Given the description of an element on the screen output the (x, y) to click on. 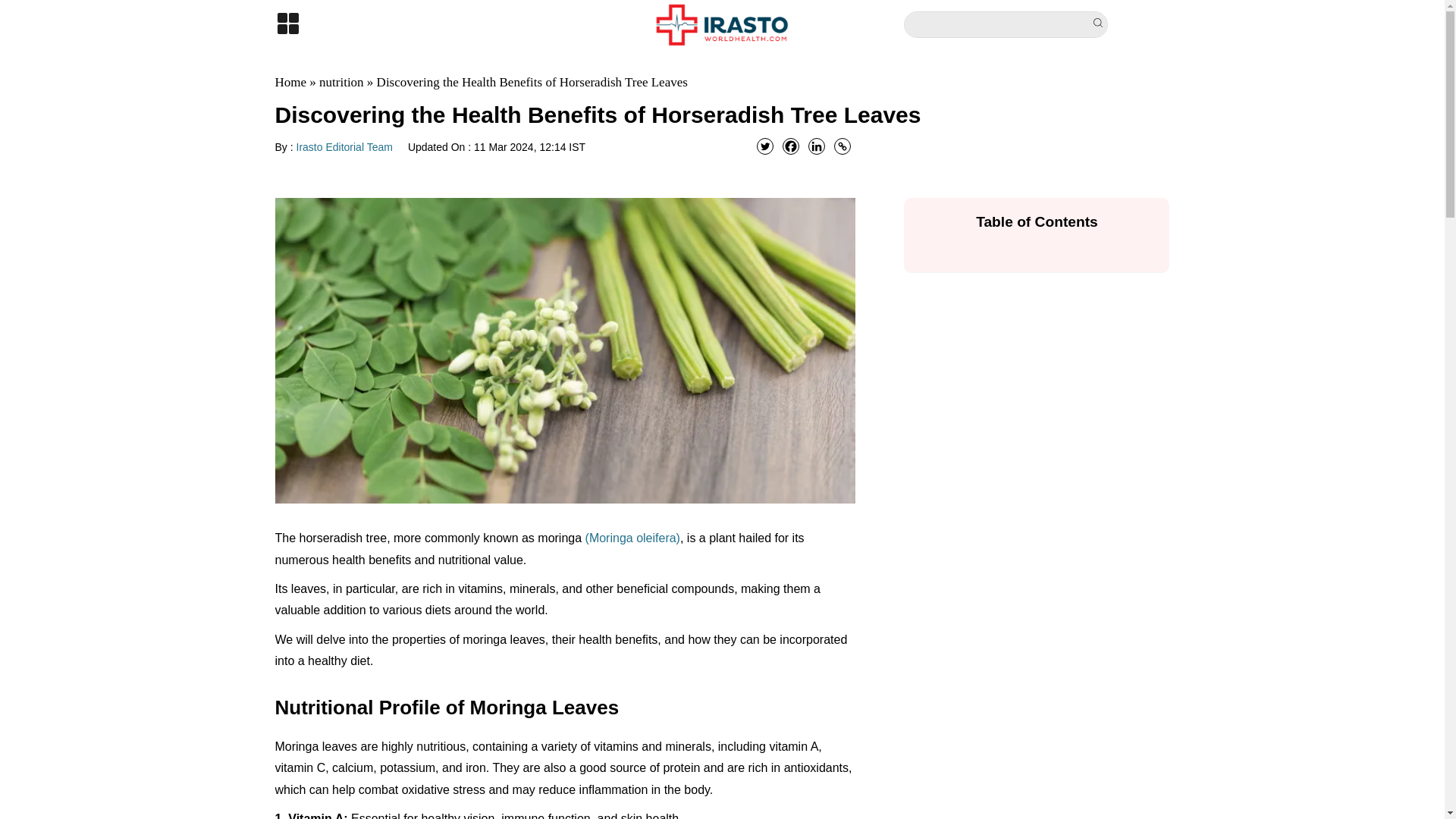
Home (290, 82)
Twitter (765, 146)
Irasto-logo (722, 24)
Irasto Editorial Team (345, 146)
Search (1099, 23)
Linkedin (816, 146)
nutrition (341, 82)
Search (1099, 23)
Copy Link (842, 146)
Facebook (791, 146)
Search (1099, 23)
